Given the description of an element on the screen output the (x, y) to click on. 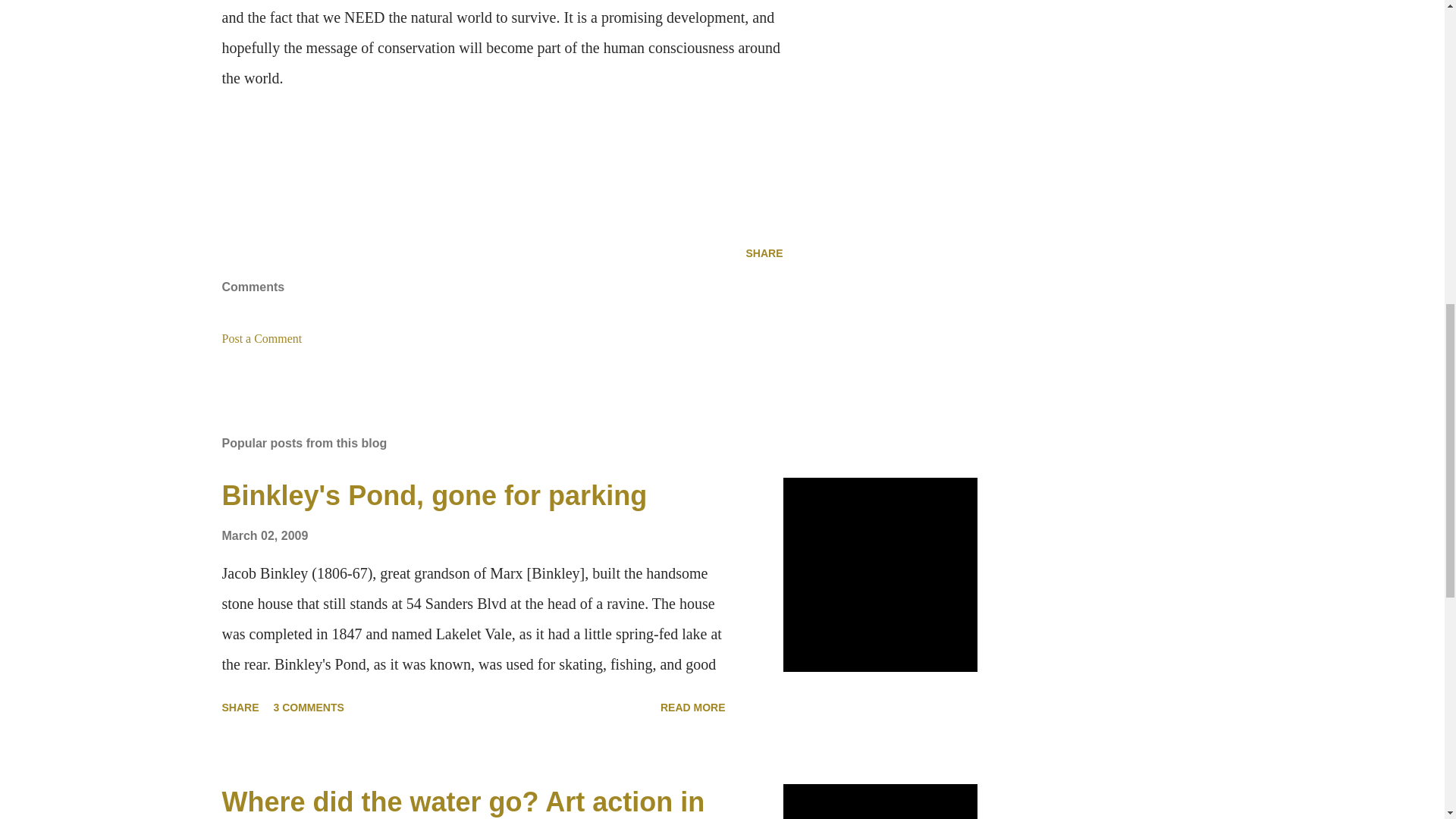
Email Post (230, 253)
SHARE (239, 707)
Binkley's Pond, gone for parking (433, 495)
March 02, 2009 (264, 535)
permanent link (264, 535)
READ MORE (692, 707)
SHARE (764, 252)
Where did the water go? Art action in Lot M Parking (462, 802)
3 COMMENTS (308, 707)
Post a Comment (261, 338)
